Given the description of an element on the screen output the (x, y) to click on. 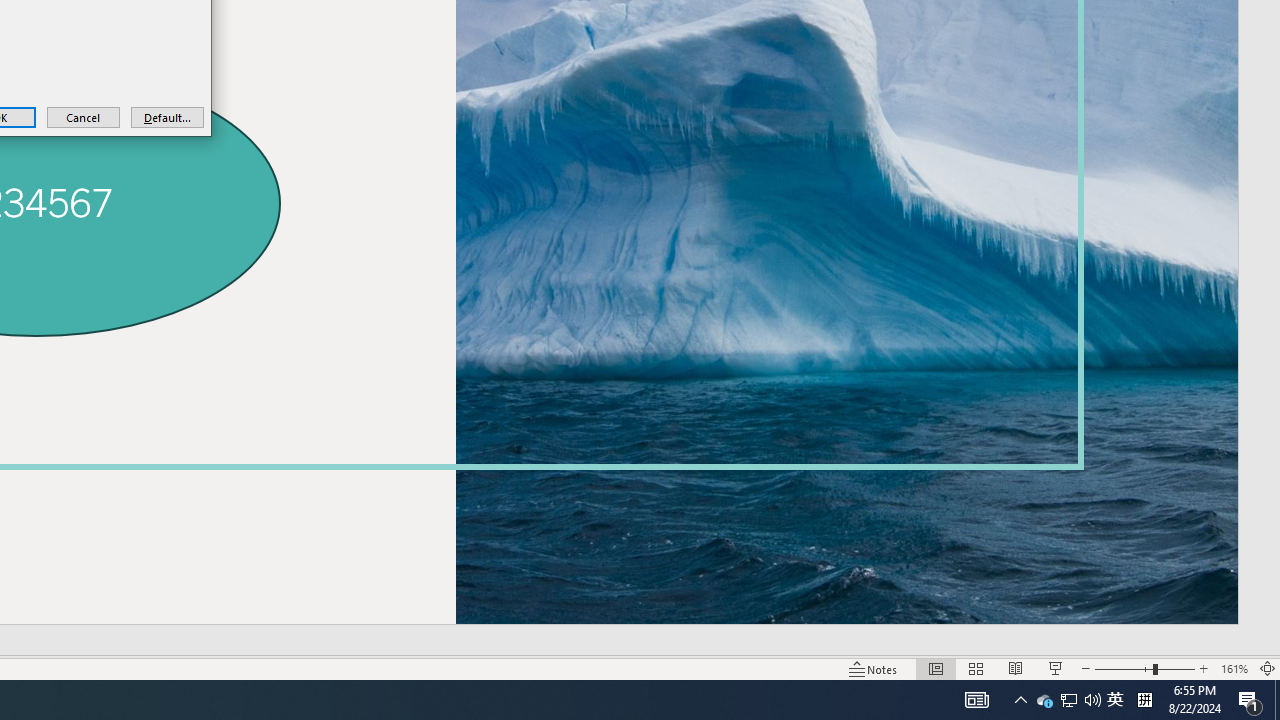
Q2790: 100% (1092, 699)
Zoom 161% (1234, 668)
Show desktop (1277, 699)
Zoom In (1204, 668)
AutomationID: 4105 (976, 699)
Zoom (1144, 668)
Zoom to Fit  (1267, 668)
